Given the description of an element on the screen output the (x, y) to click on. 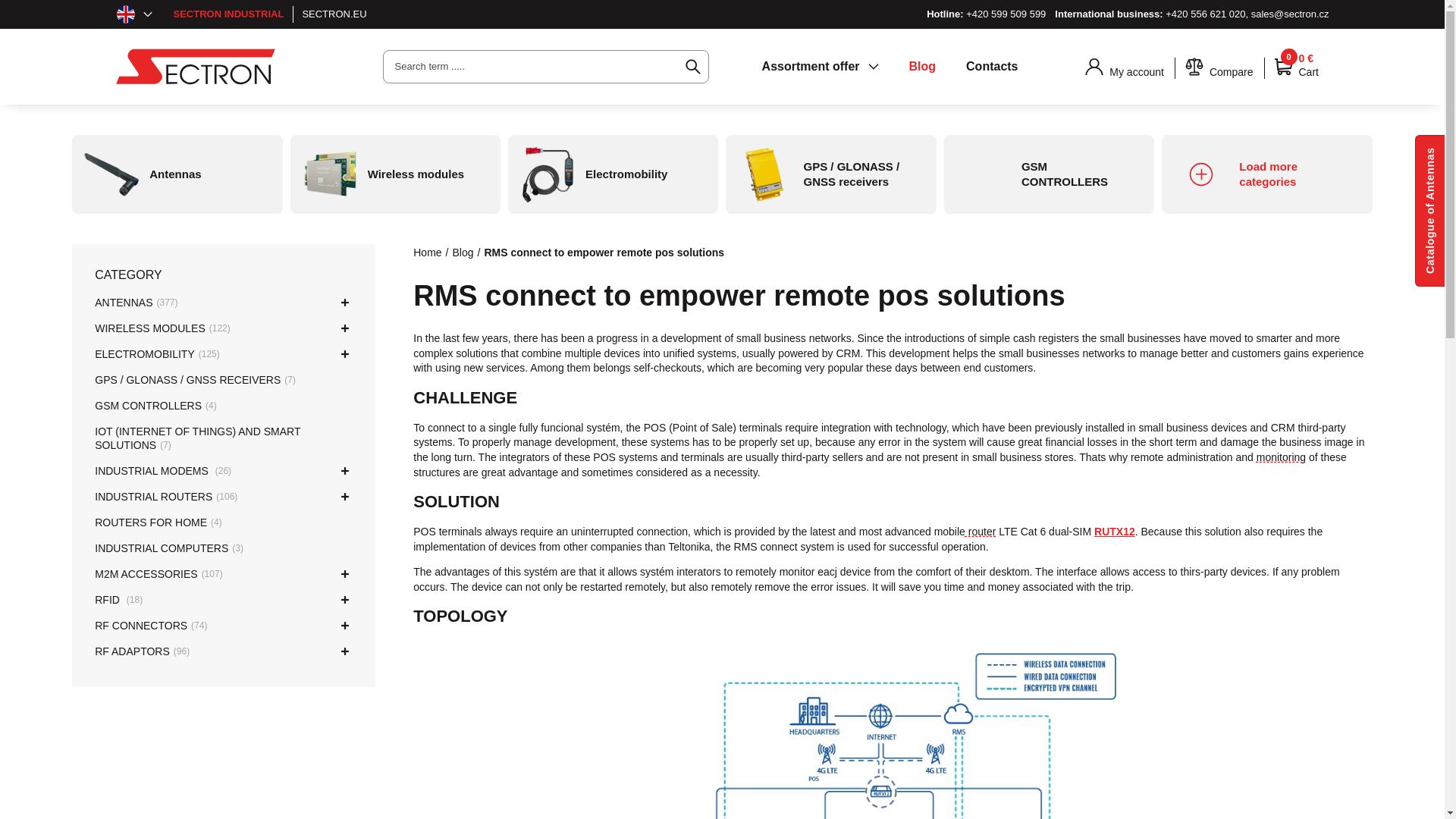
EN (136, 14)
Go to - Assortment offer (820, 66)
SECTRON s.r.o. (195, 66)
Assortment offer (820, 66)
Go to Sectron.eu (333, 13)
Show submenu for Language versions (147, 14)
Search article (692, 66)
SECTRON.EU (333, 13)
Go to homepage (889, 66)
